Given the description of an element on the screen output the (x, y) to click on. 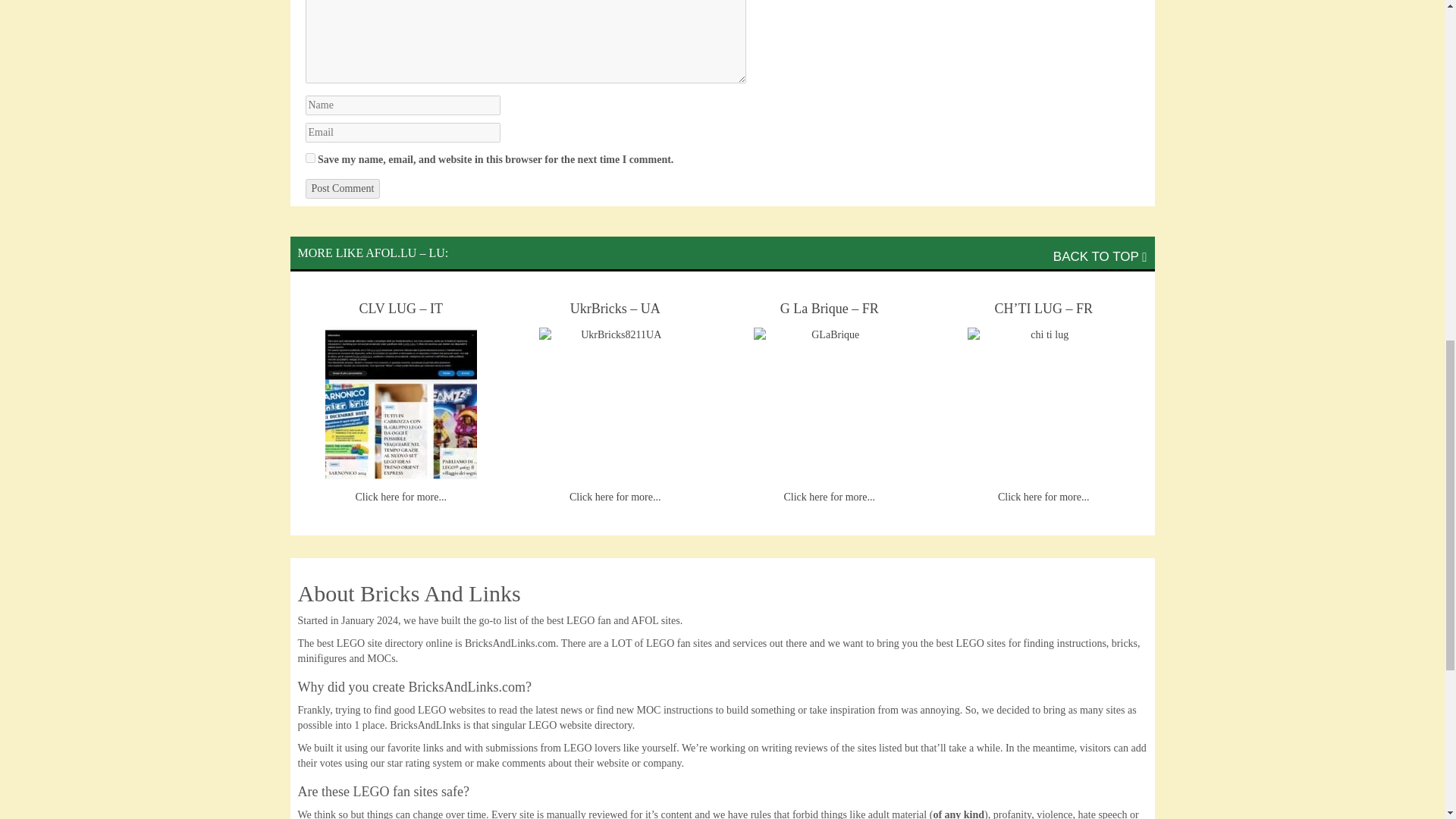
Click here for more... (829, 496)
Click here for more... (400, 496)
Post Comment (342, 189)
Post Comment (342, 189)
UkrBricks - UA 2 (614, 403)
yes (309, 157)
Click here for more... (1043, 496)
G La Brique - FR 3 (829, 403)
Click here for more... (615, 496)
CH'TI LUG - FR 4 (1043, 403)
BACK TO TOP (1099, 256)
CLV LUG - IT 1 (400, 403)
